Given the description of an element on the screen output the (x, y) to click on. 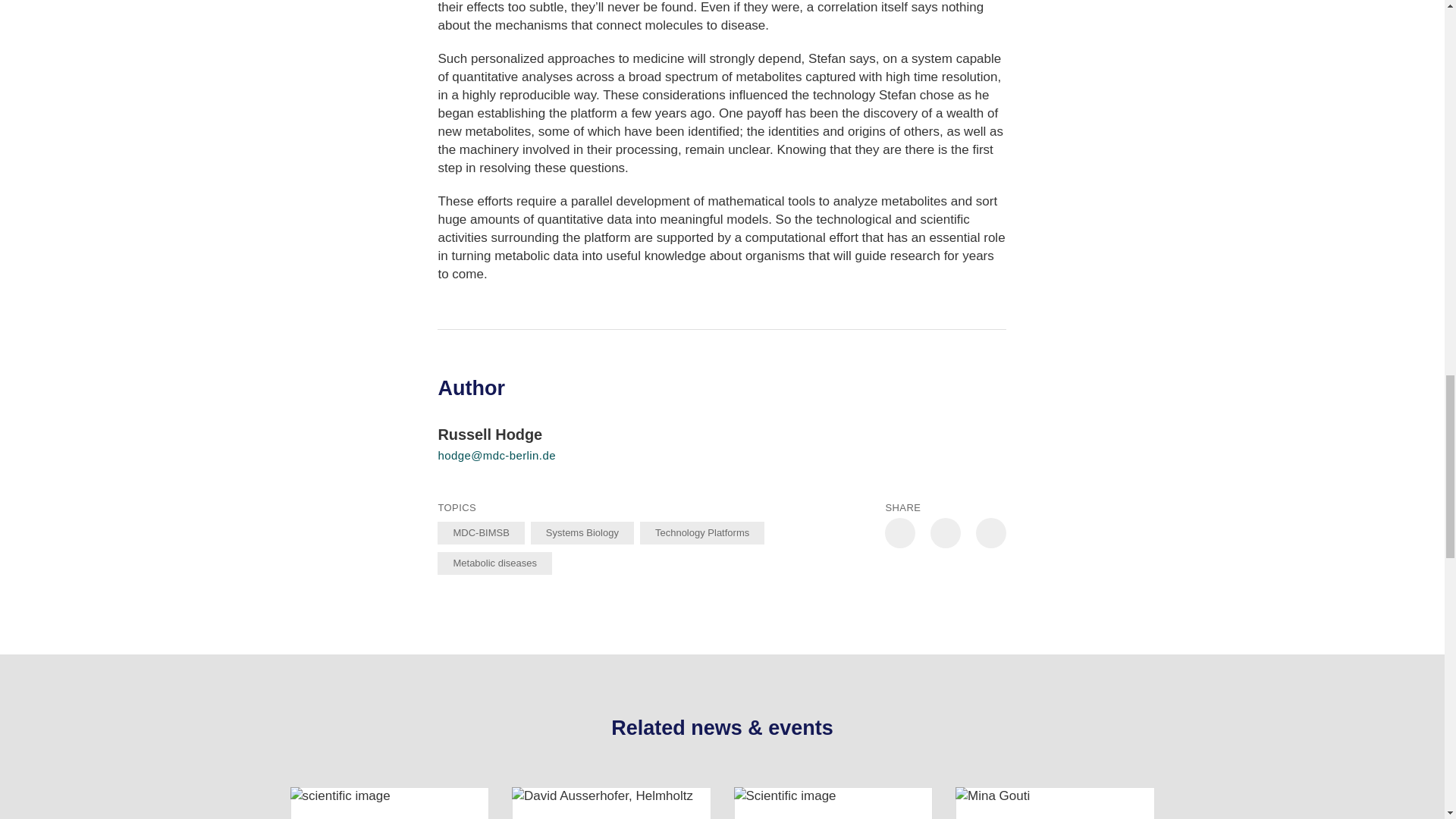
Share via Email (990, 532)
Share via Facebook (945, 532)
Share via X (900, 532)
